Given the description of an element on the screen output the (x, y) to click on. 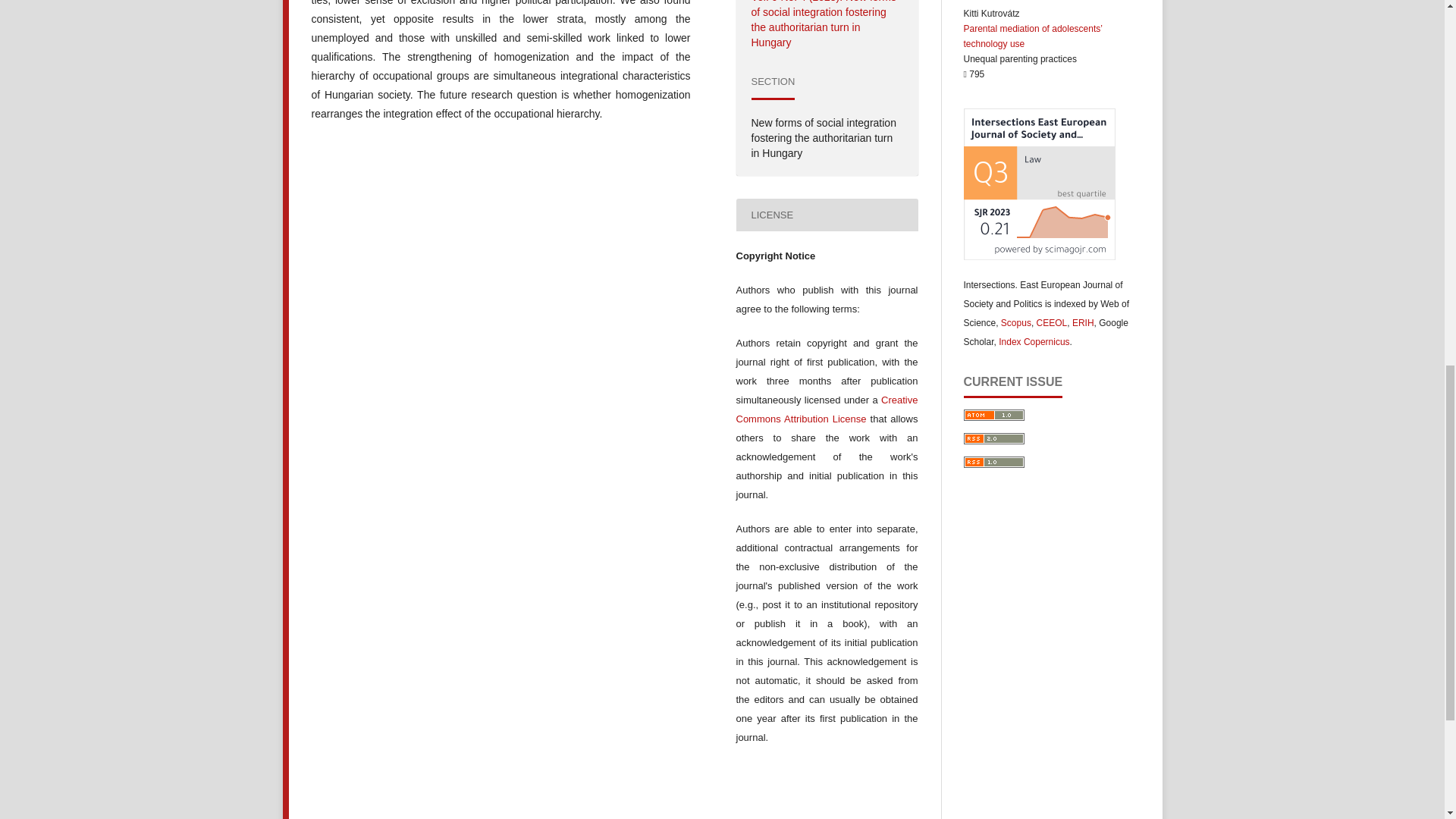
Creative Commons Attribution License (826, 409)
